Given the description of an element on the screen output the (x, y) to click on. 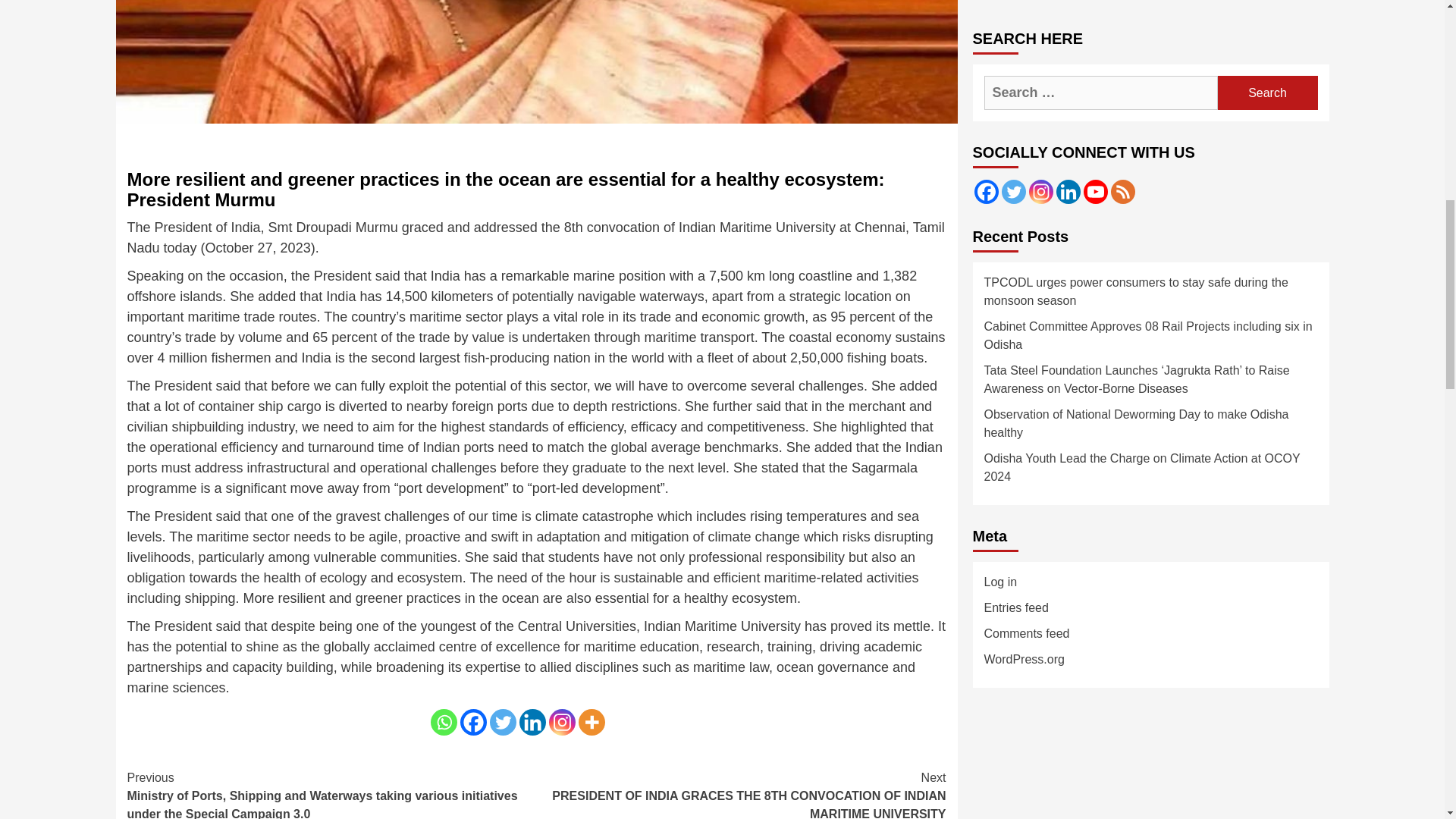
Twitter (502, 722)
Facebook (473, 722)
Instagram (561, 722)
Linkedin (531, 722)
More (591, 722)
Whatsapp (443, 722)
